Given the description of an element on the screen output the (x, y) to click on. 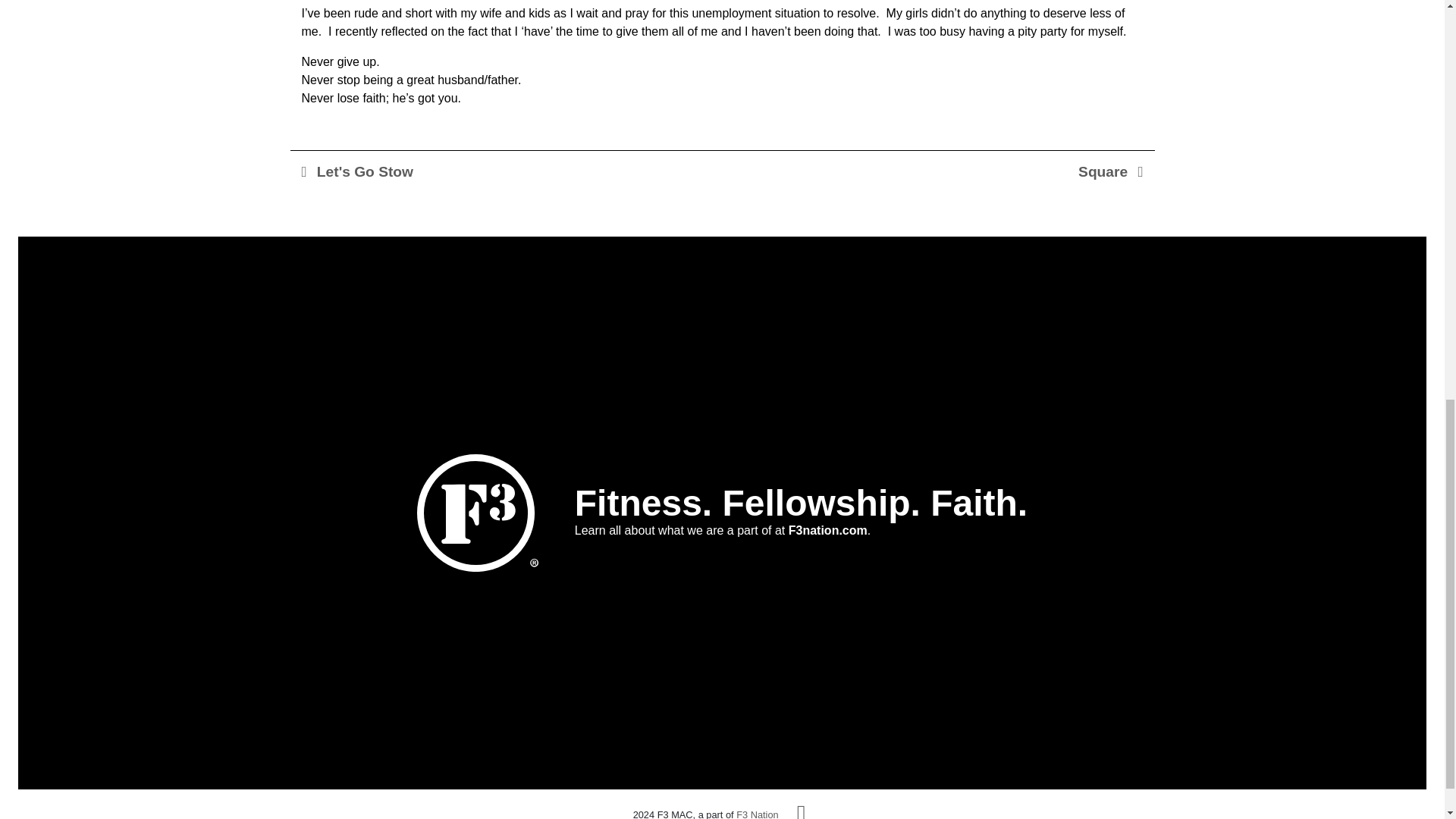
Let's Go Stow (357, 171)
F3 Nation (756, 814)
Twitter (801, 810)
Let's Go Stow (357, 171)
Square (1110, 171)
Square (1110, 171)
